Given the description of an element on the screen output the (x, y) to click on. 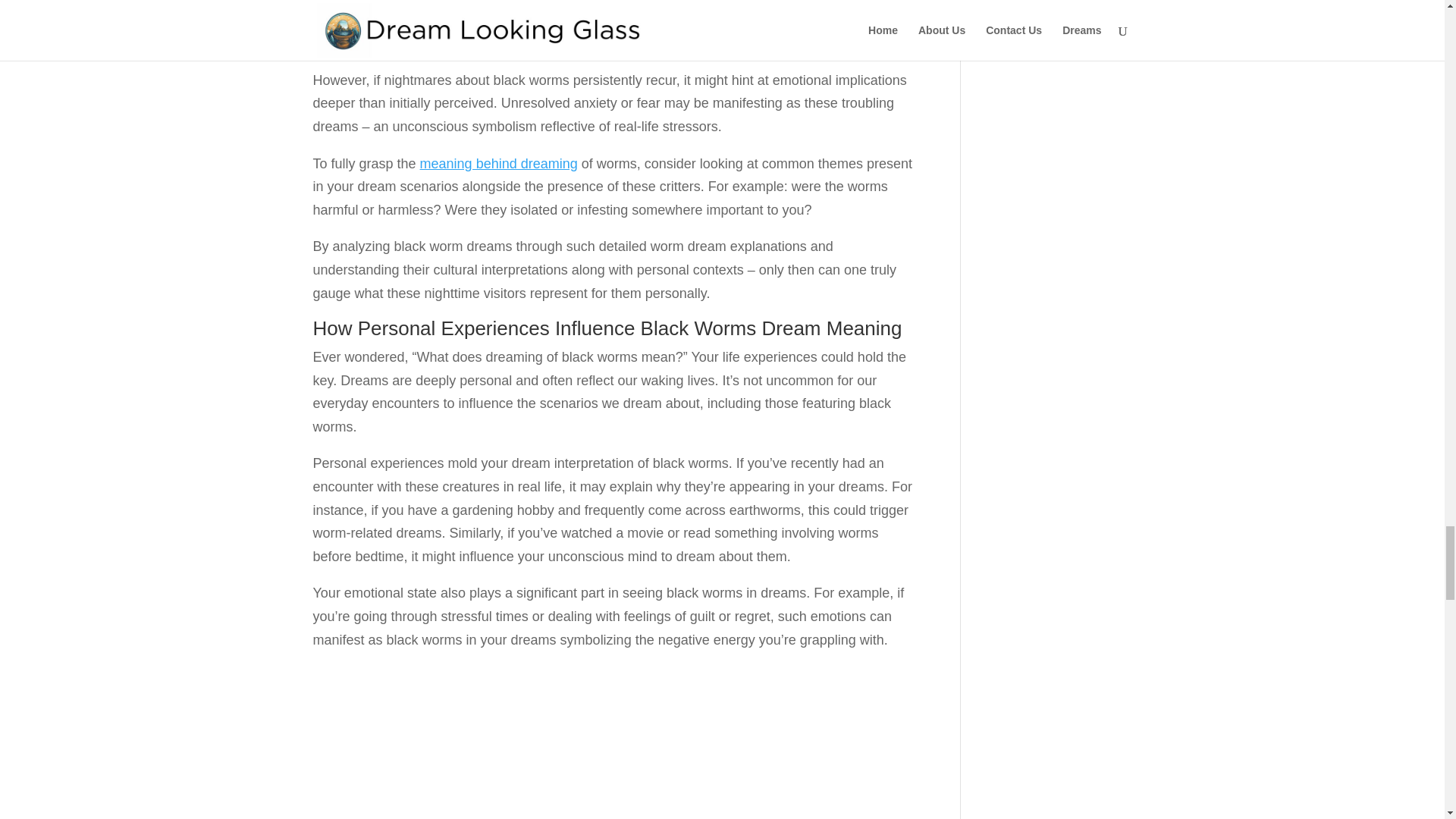
meaning behind dreaming (499, 163)
